Given the description of an element on the screen output the (x, y) to click on. 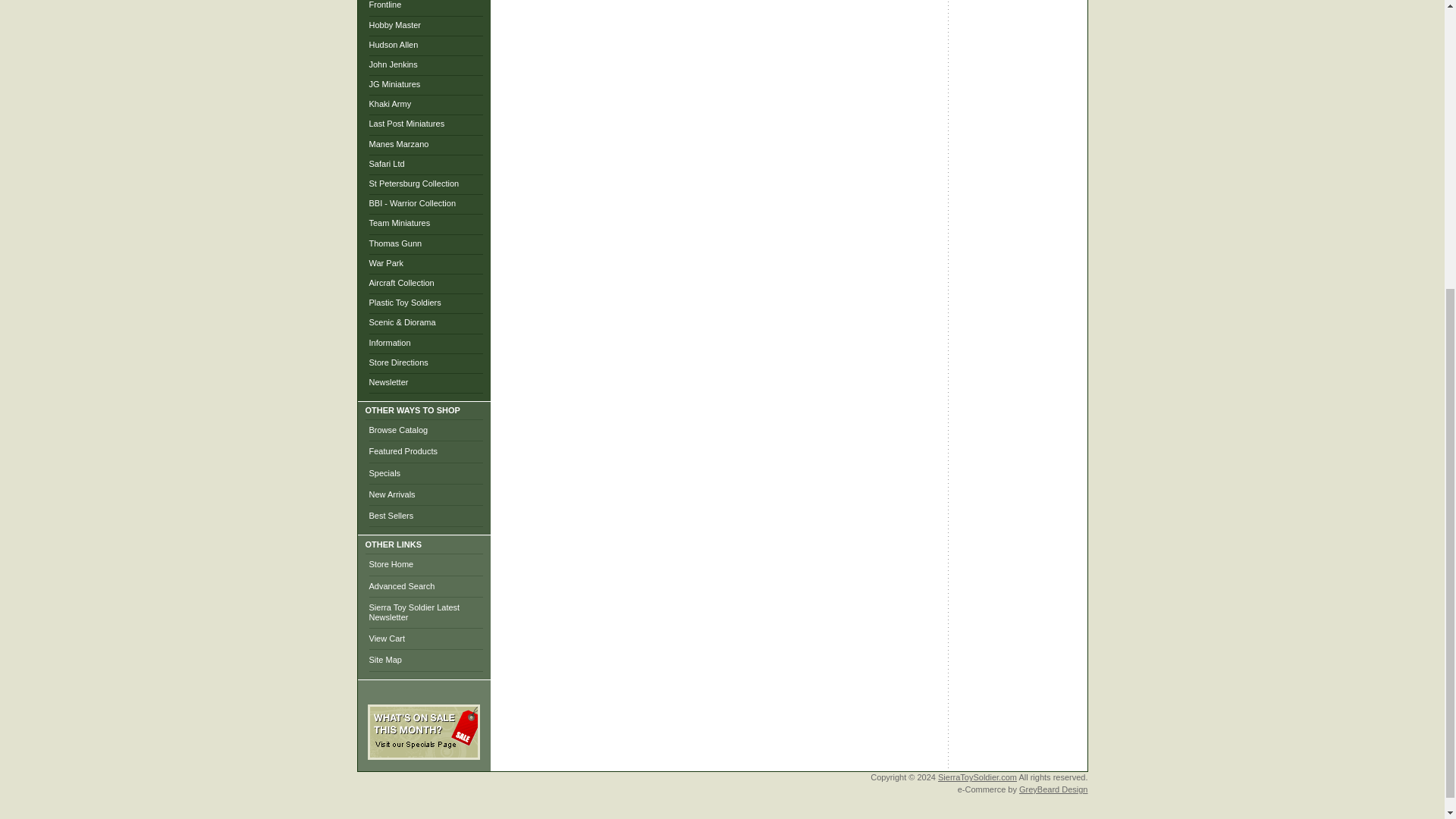
Manes Marzano (398, 143)
JG Miniatures (394, 83)
Hudson Allen (392, 44)
John Jenkins (392, 63)
Frontline (384, 4)
Last Post Miniatures (406, 122)
St Petersburg Collection (413, 183)
Safari Ltd (386, 163)
Hobby Master (394, 24)
Khaki Army (389, 103)
